Given the description of an element on the screen output the (x, y) to click on. 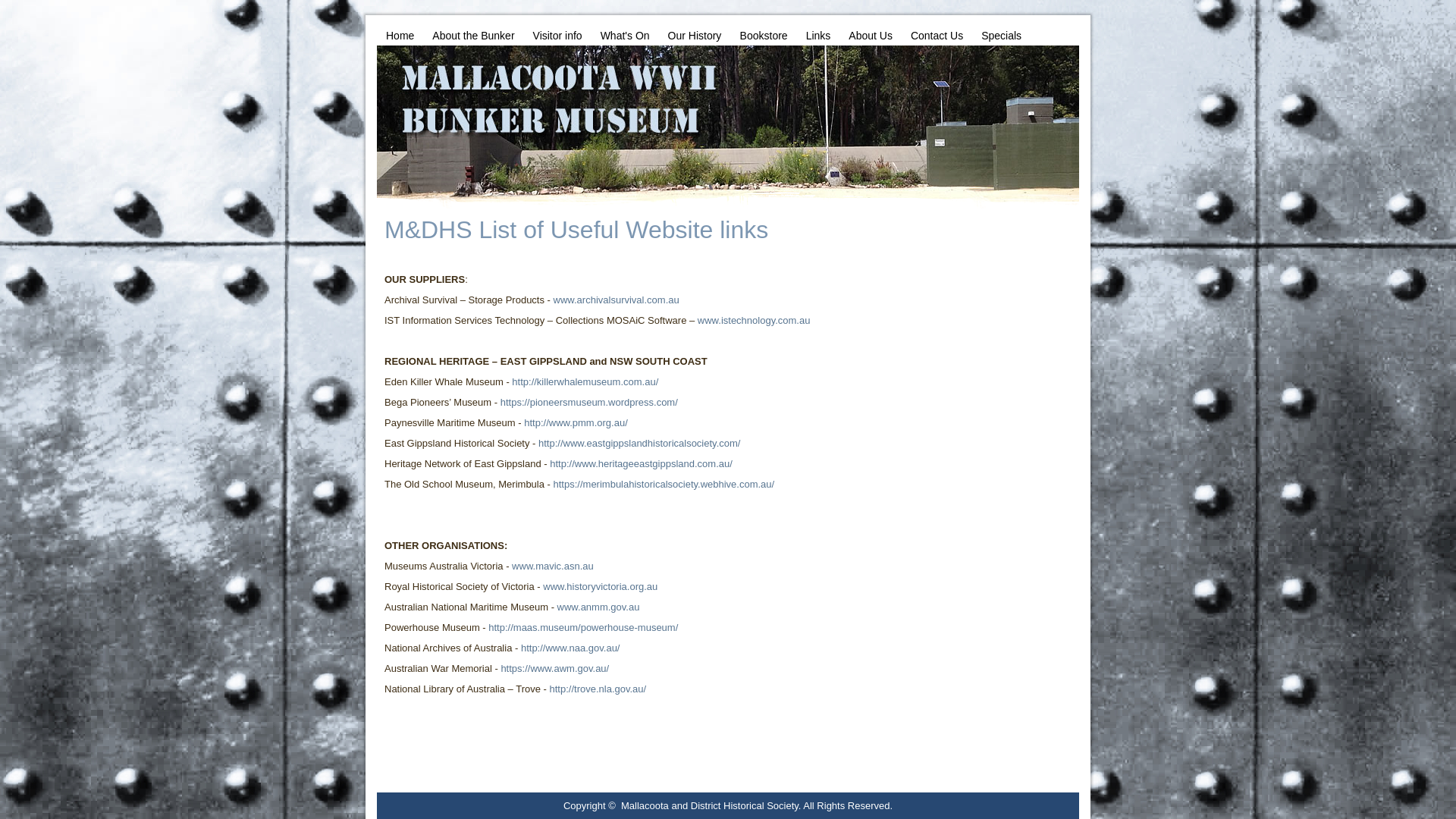
http://killerwhalemuseum.com.au/ Element type: text (584, 381)
Specials Element type: text (1001, 35)
https://pioneersmuseum.wordpress.com/ Element type: text (588, 401)
http://trove.nla.gov.au/ Element type: text (597, 688)
www.archivalsurvival.com.au Element type: text (616, 299)
Links Element type: text (818, 35)
http://www.eastgippslandhistoricalsociety.com/ Element type: text (639, 442)
http://www.heritageeastgippsland.com.au/ Element type: text (640, 463)
http://www.pmm.org.au/ Element type: text (575, 422)
www.istechnology.com.au Element type: text (753, 320)
About Us Element type: text (870, 35)
Bookstore Element type: text (764, 35)
www.mavic.asn.au Element type: text (552, 565)
www.anmm.gov.au Element type: text (598, 606)
About the Bunker Element type: text (473, 35)
https://merimbulahistoricalsociety.webhive.com.au/ Element type: text (664, 483)
Our History Element type: text (694, 35)
http://www.naa.gov.au/ Element type: text (570, 647)
http://maas.museum/powerhouse-museum/ Element type: text (582, 627)
Visitor info Element type: text (557, 35)
https://www.awm.gov.au/ Element type: text (554, 668)
Contact Us Element type: text (936, 35)
www.historyvictoria.org.au Element type: text (599, 586)
Home Element type: text (399, 35)
What's On Element type: text (624, 35)
